Given the description of an element on the screen output the (x, y) to click on. 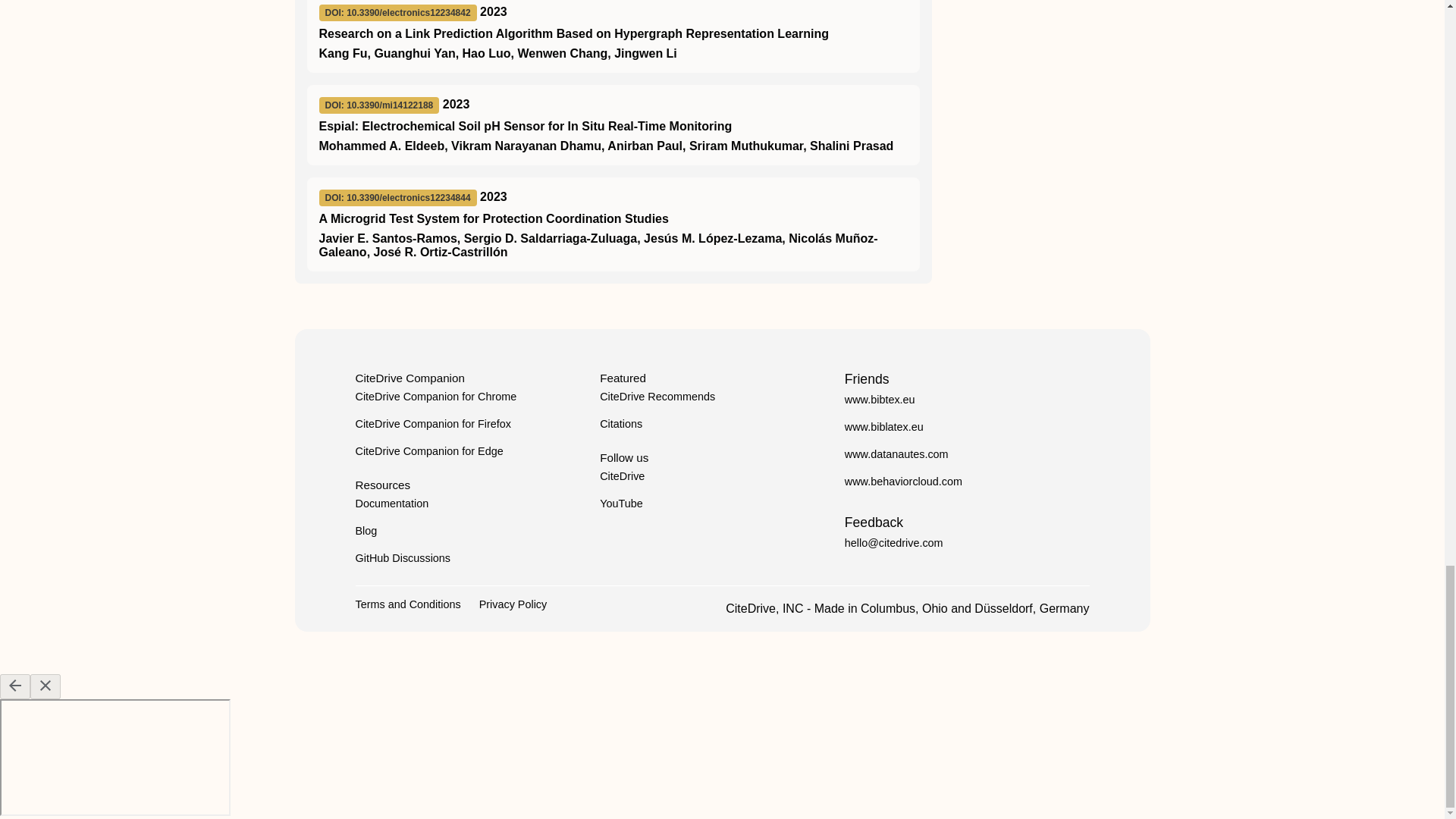
GitHub Discussions (402, 558)
Documentation (391, 503)
CiteDrive Companion for Firefox (433, 423)
CiteDrive Recommends (656, 396)
YouTube (621, 503)
CiteDrive (622, 476)
Citations (620, 423)
www.biblatex.eu (883, 426)
CiteDrive Companion for Edge (428, 451)
CiteDrive Companion for Chrome (435, 396)
Blog (366, 530)
www.bibtex.eu (879, 399)
